Given the description of an element on the screen output the (x, y) to click on. 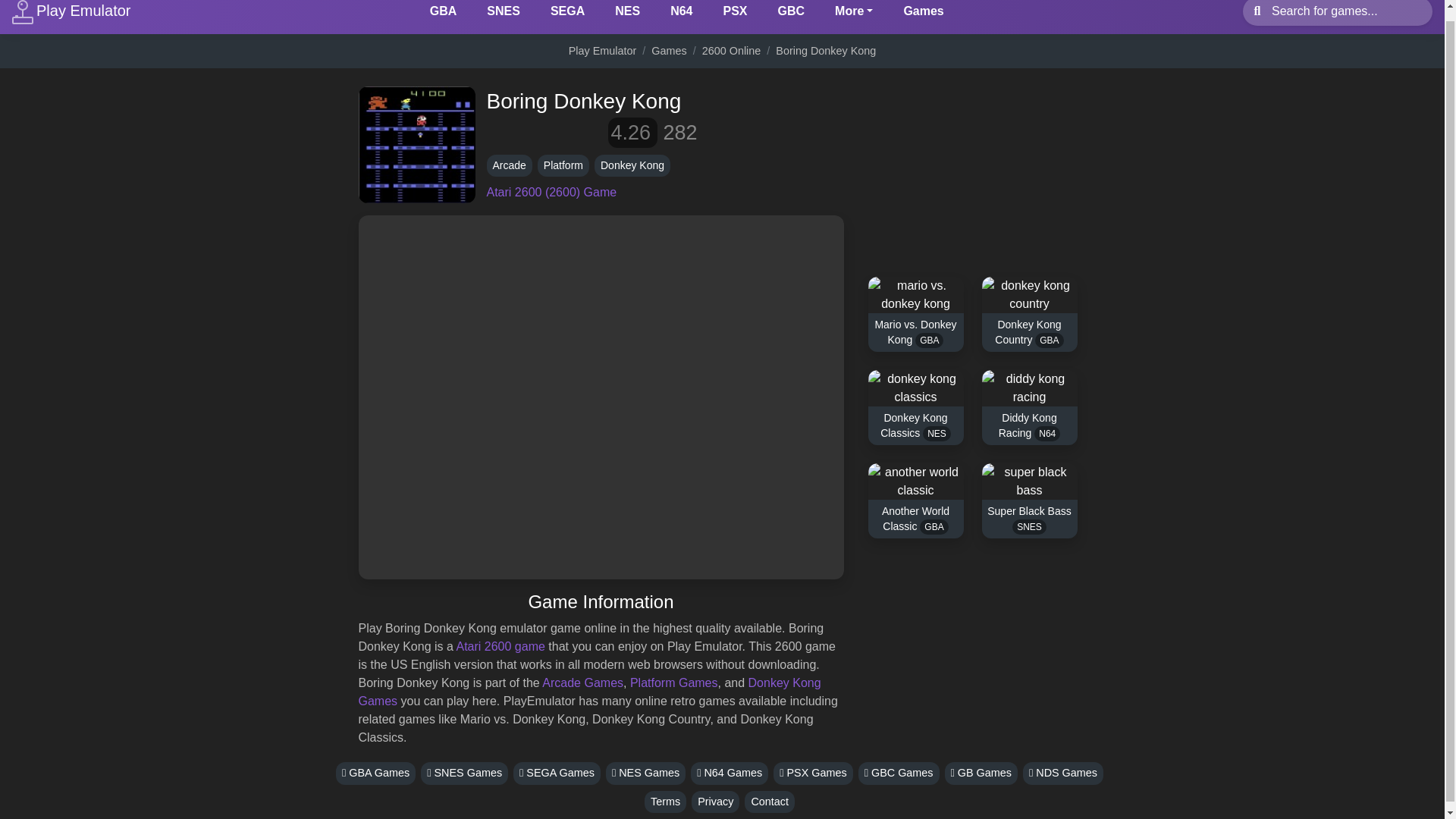
N64 (681, 13)
2600 Online (731, 50)
GBA (442, 13)
GBC (790, 13)
Boring Donkey Kong (826, 50)
Games (667, 50)
SEGA (567, 13)
PSX (734, 13)
Arcade (509, 165)
Platform (563, 165)
